Given the description of an element on the screen output the (x, y) to click on. 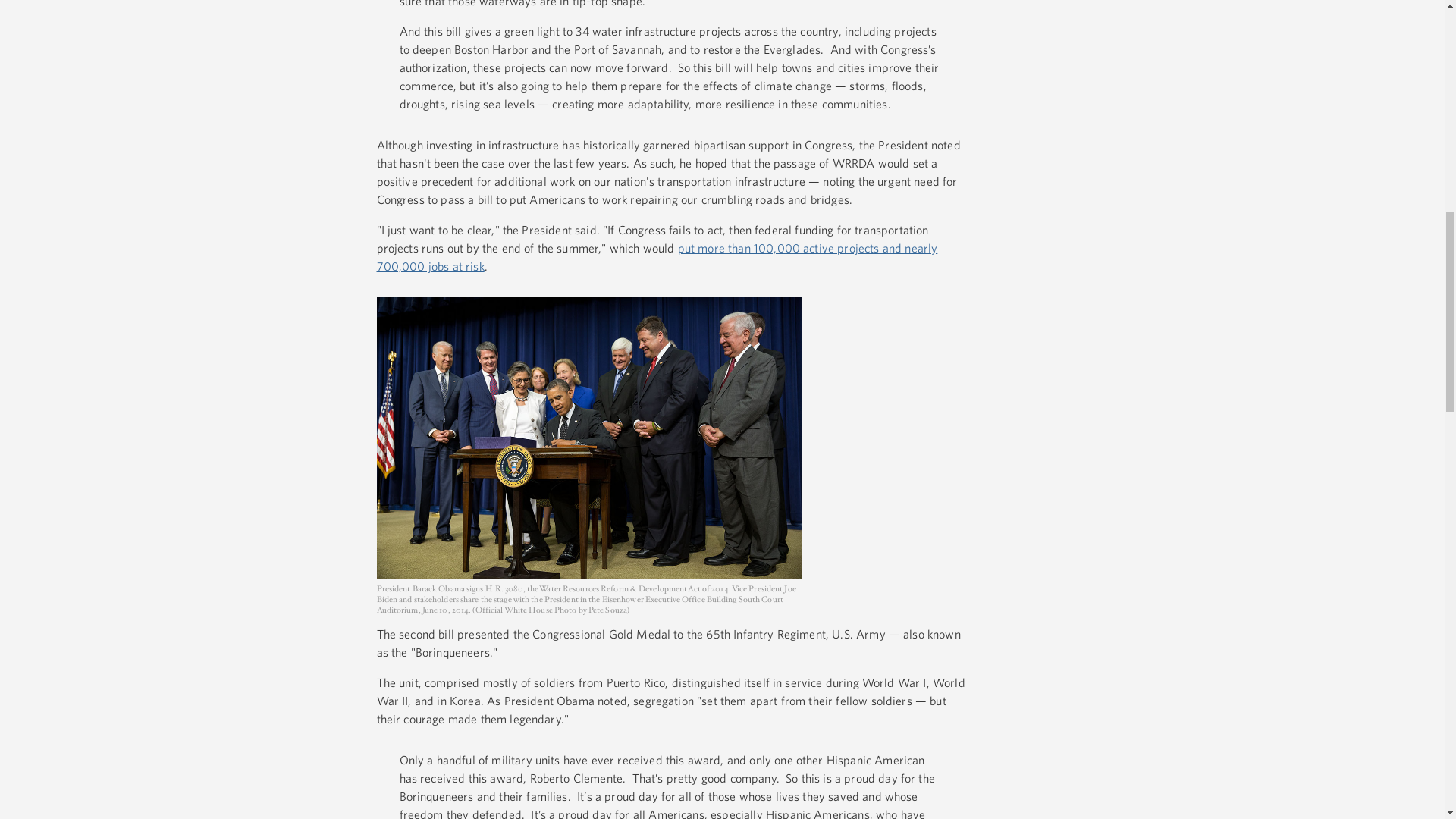
President Barack Obama signs H.R. 3080 (587, 437)
